Given the description of an element on the screen output the (x, y) to click on. 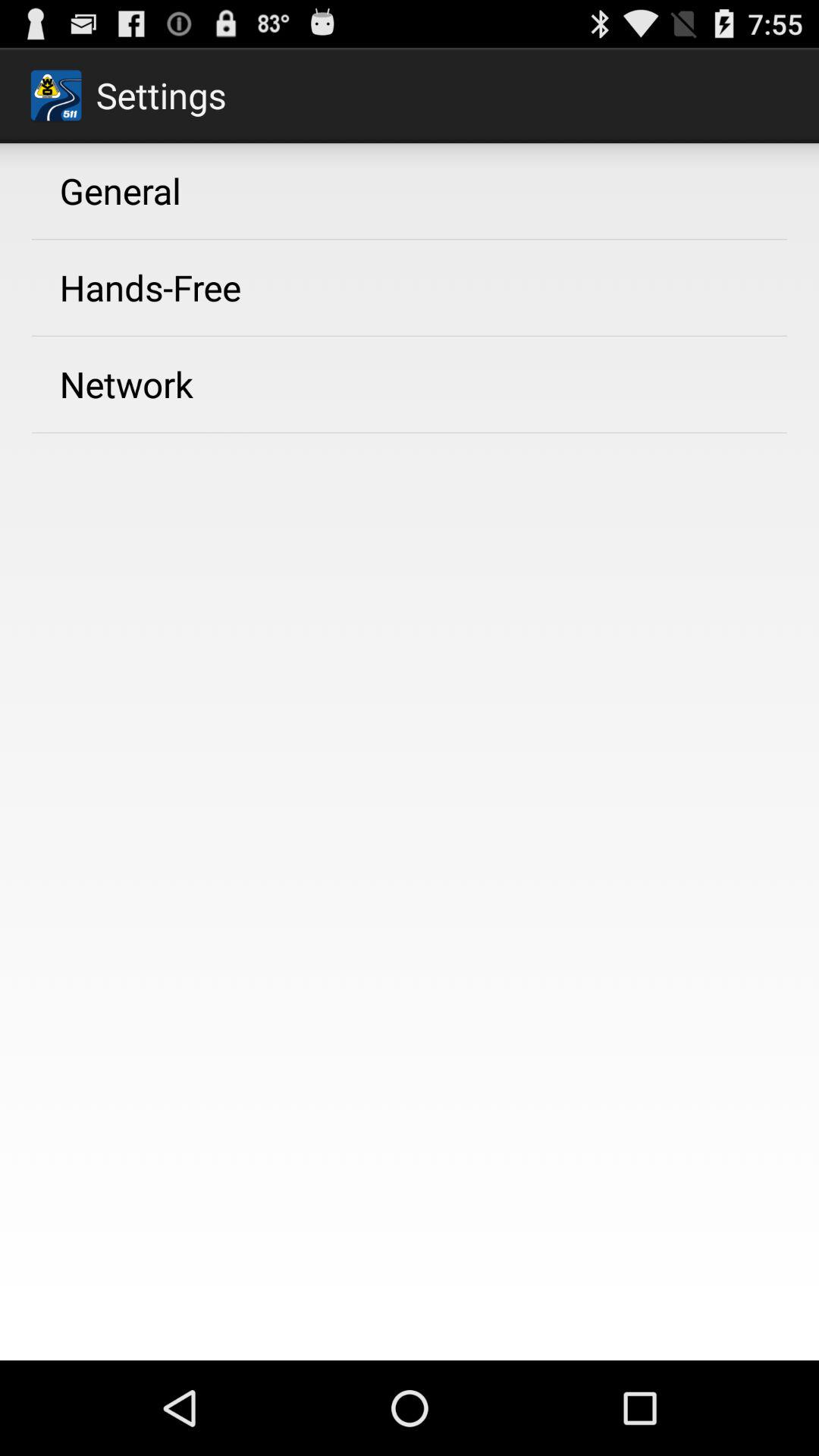
click icon below the general app (150, 287)
